Given the description of an element on the screen output the (x, y) to click on. 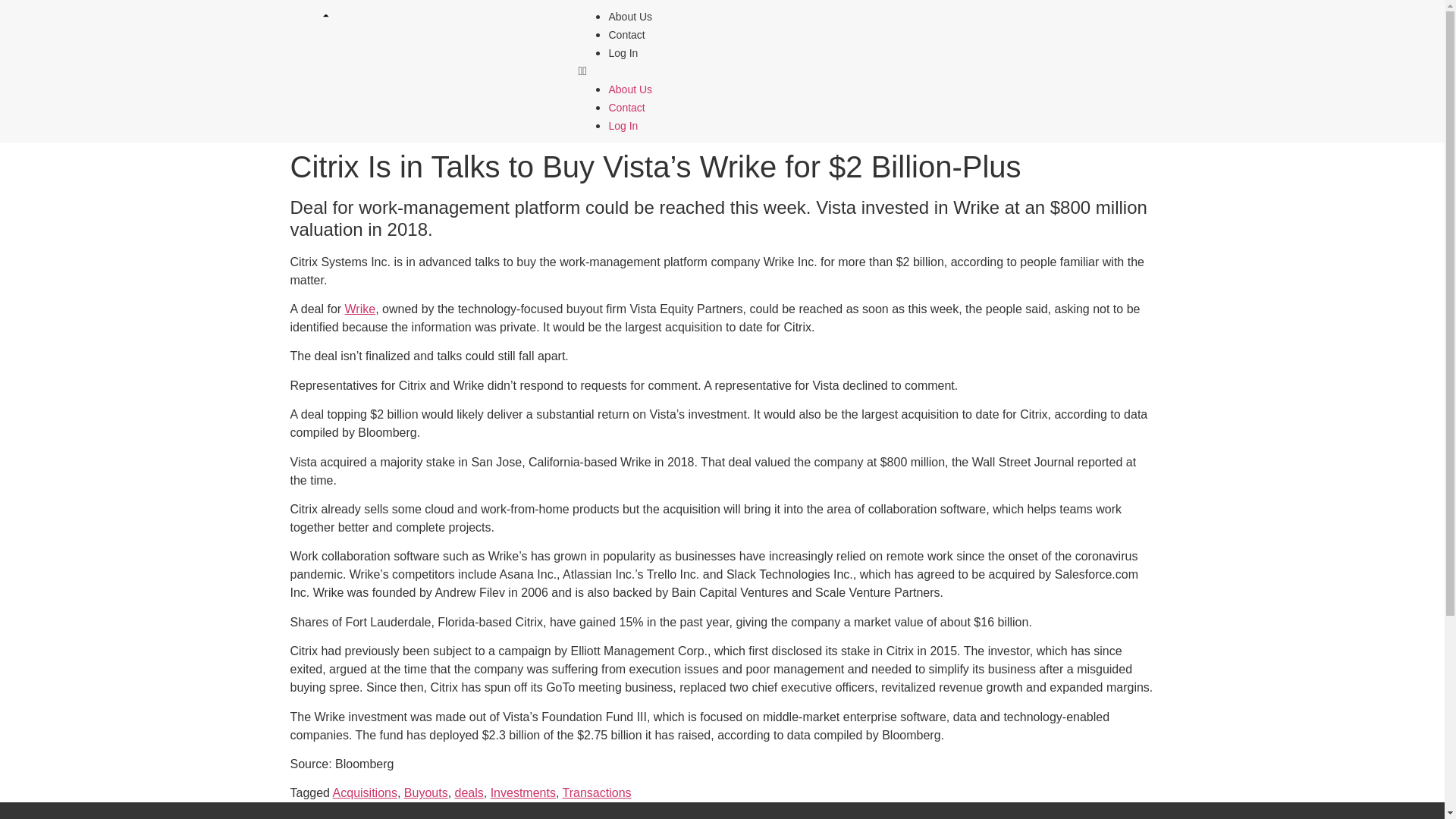
Acquisitions (365, 792)
deals (468, 792)
Log In (622, 125)
Contact (626, 107)
Wrike (360, 308)
About Us (630, 16)
About Us (630, 89)
Buyouts (426, 792)
Investments (523, 792)
Contact (626, 34)
Log In (622, 52)
Transactions (596, 792)
